Given the description of an element on the screen output the (x, y) to click on. 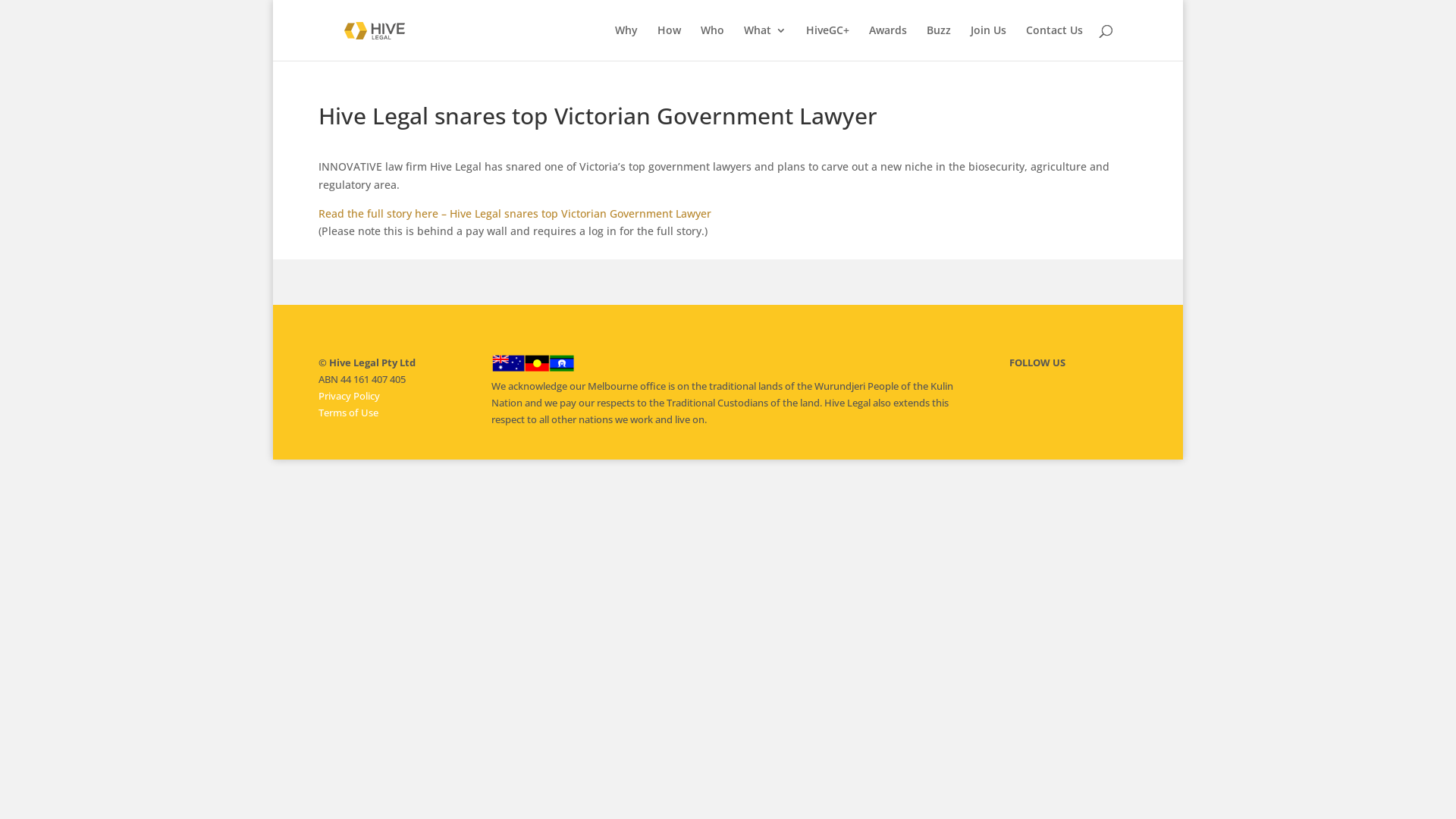
Buzz Element type: text (938, 42)
What Element type: text (764, 42)
Who Element type: text (712, 42)
Terms of Use Element type: text (348, 412)
Awards Element type: text (887, 42)
HiveGC+ Element type: text (827, 42)
How Element type: text (668, 42)
Join Us Element type: text (988, 42)
Contact Us Element type: text (1054, 42)
Why Element type: text (626, 42)
Privacy Policy Element type: text (348, 395)
